Given the description of an element on the screen output the (x, y) to click on. 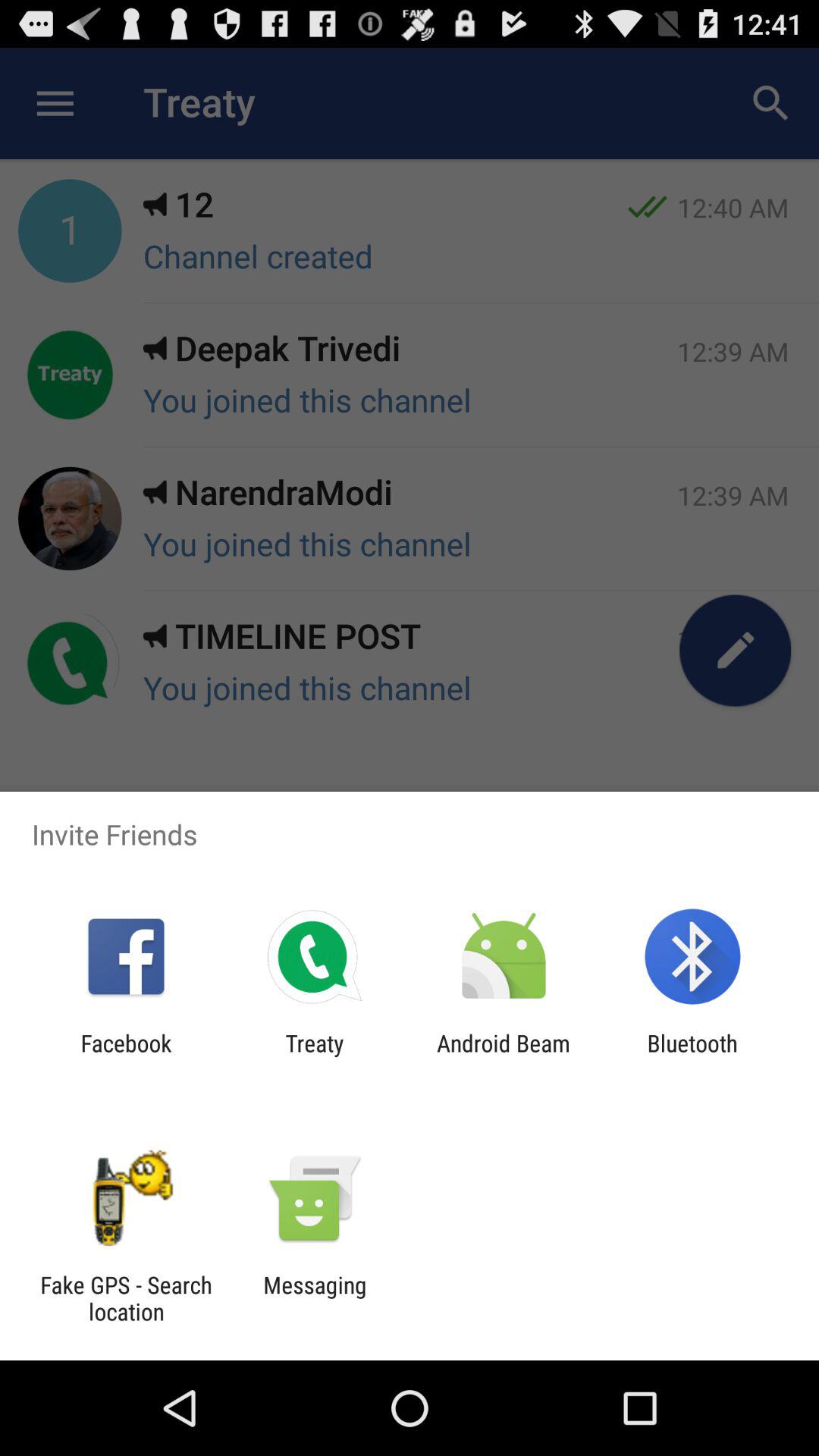
open app to the right of fake gps search item (314, 1298)
